Given the description of an element on the screen output the (x, y) to click on. 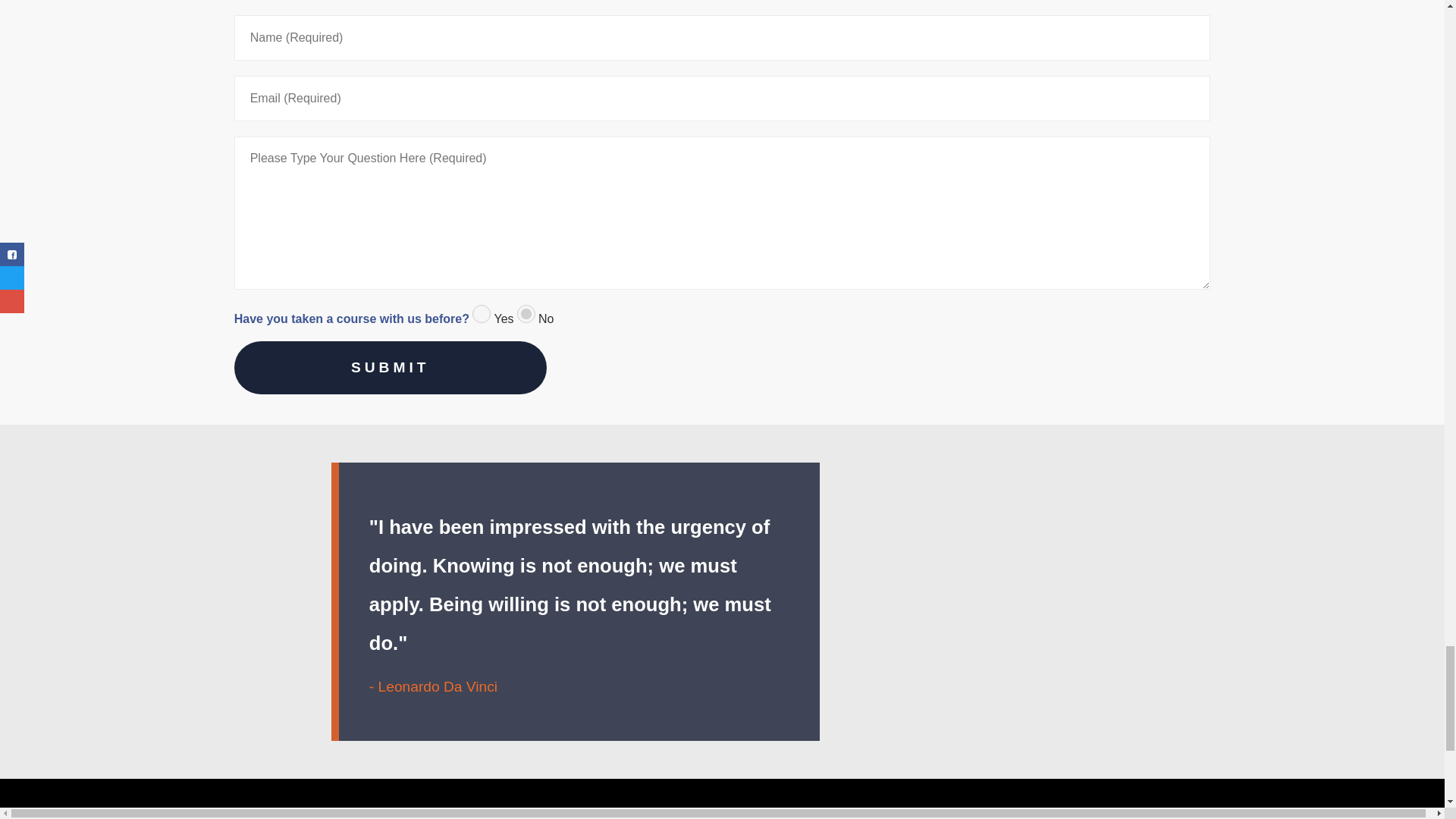
Yes (480, 313)
No (525, 313)
Submit (390, 367)
